Given the description of an element on the screen output the (x, y) to click on. 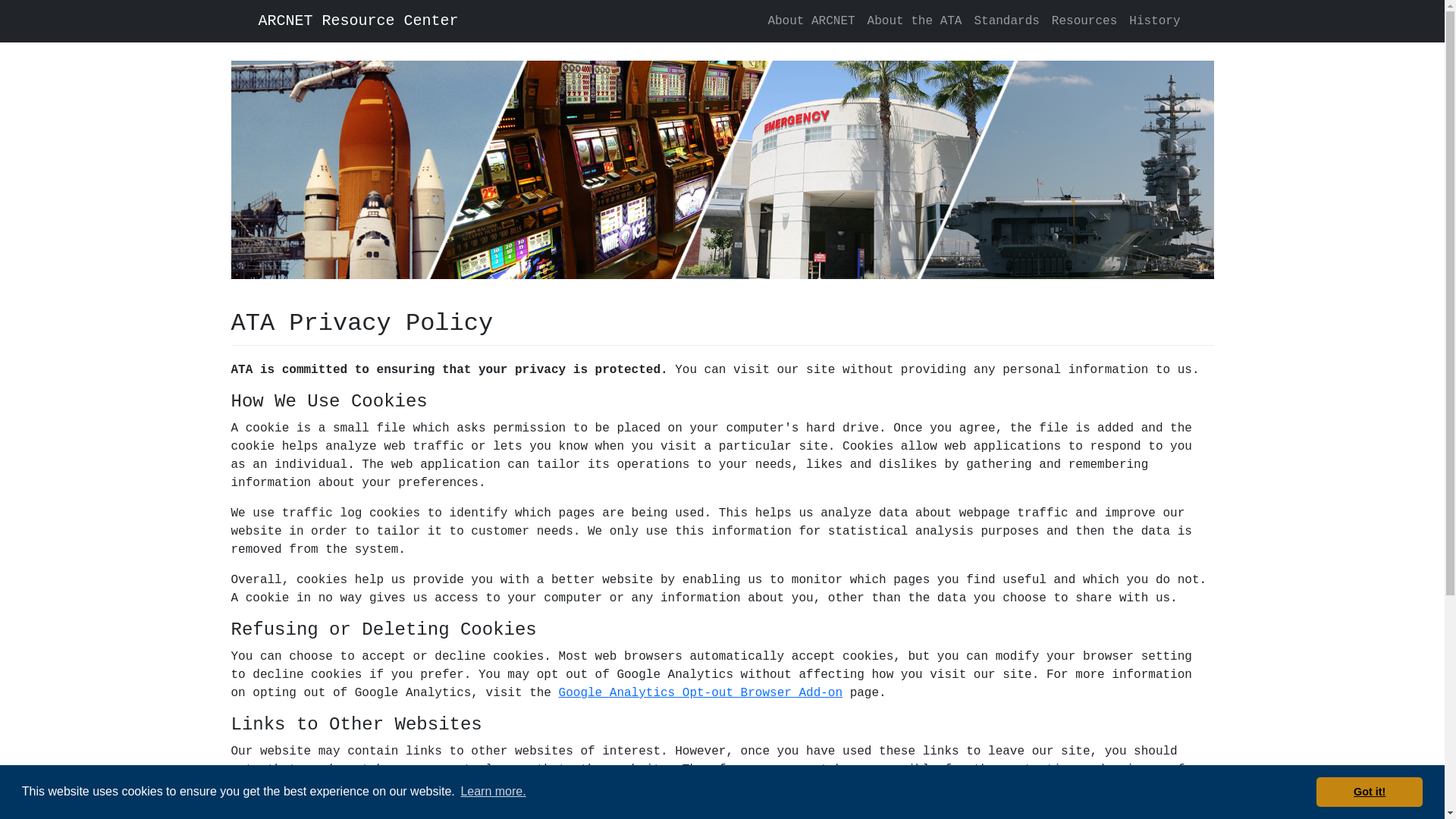
Google Analytics Opt-out Browser Add-on Element type: text (700, 692)
About the ATA Element type: text (914, 21)
Resources Element type: text (1084, 21)
ARCNET Resource Center Element type: text (357, 21)
About ARCNET Element type: text (810, 21)
Learn more. Element type: text (493, 791)
Standards Element type: text (1005, 21)
History Element type: text (1154, 21)
Got it! Element type: text (1369, 791)
